Given the description of an element on the screen output the (x, y) to click on. 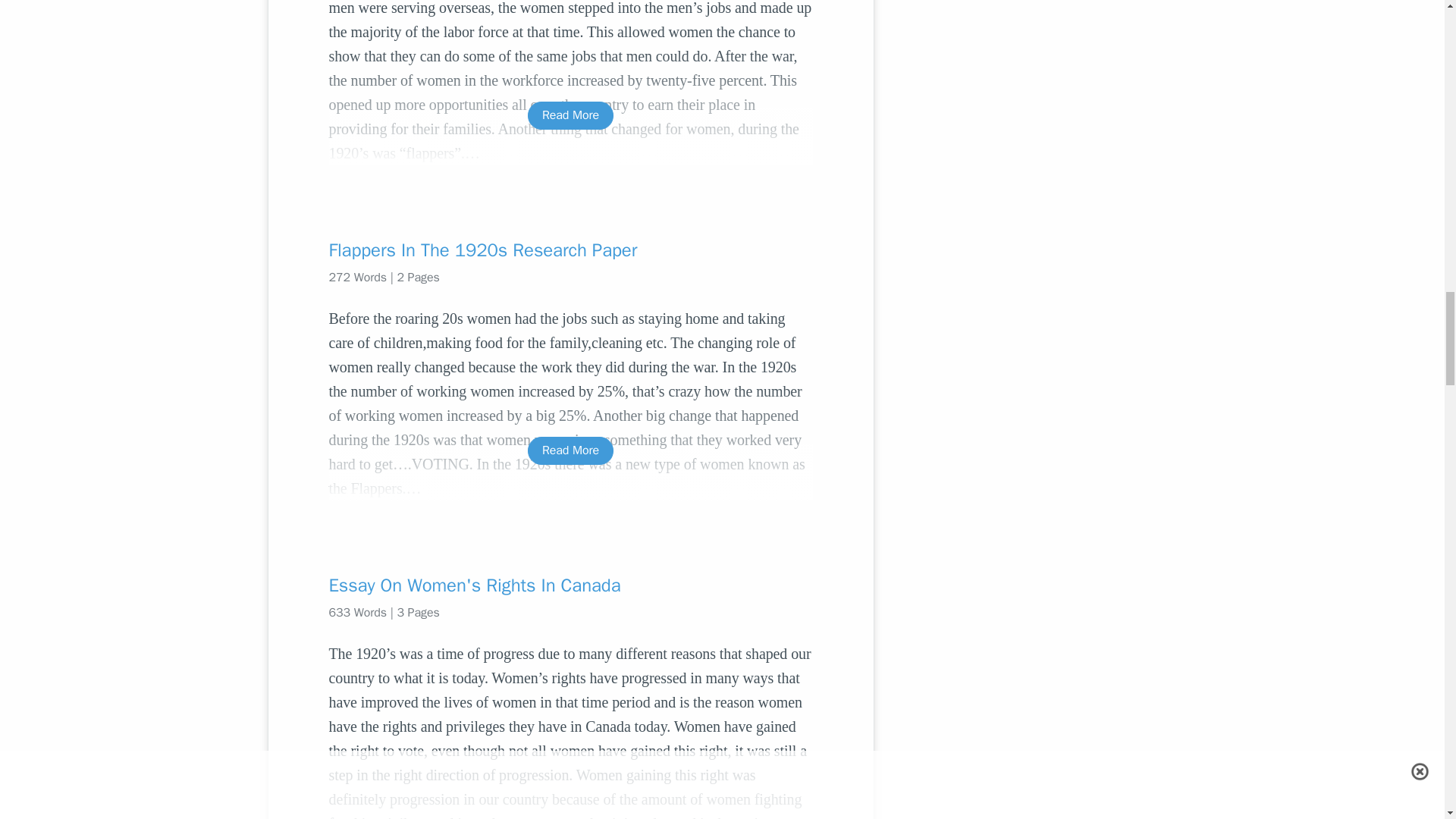
Read More (569, 115)
Essay On Women's Rights In Canada (570, 585)
Read More (569, 450)
Flappers In The 1920s Research Paper (570, 250)
